Given the description of an element on the screen output the (x, y) to click on. 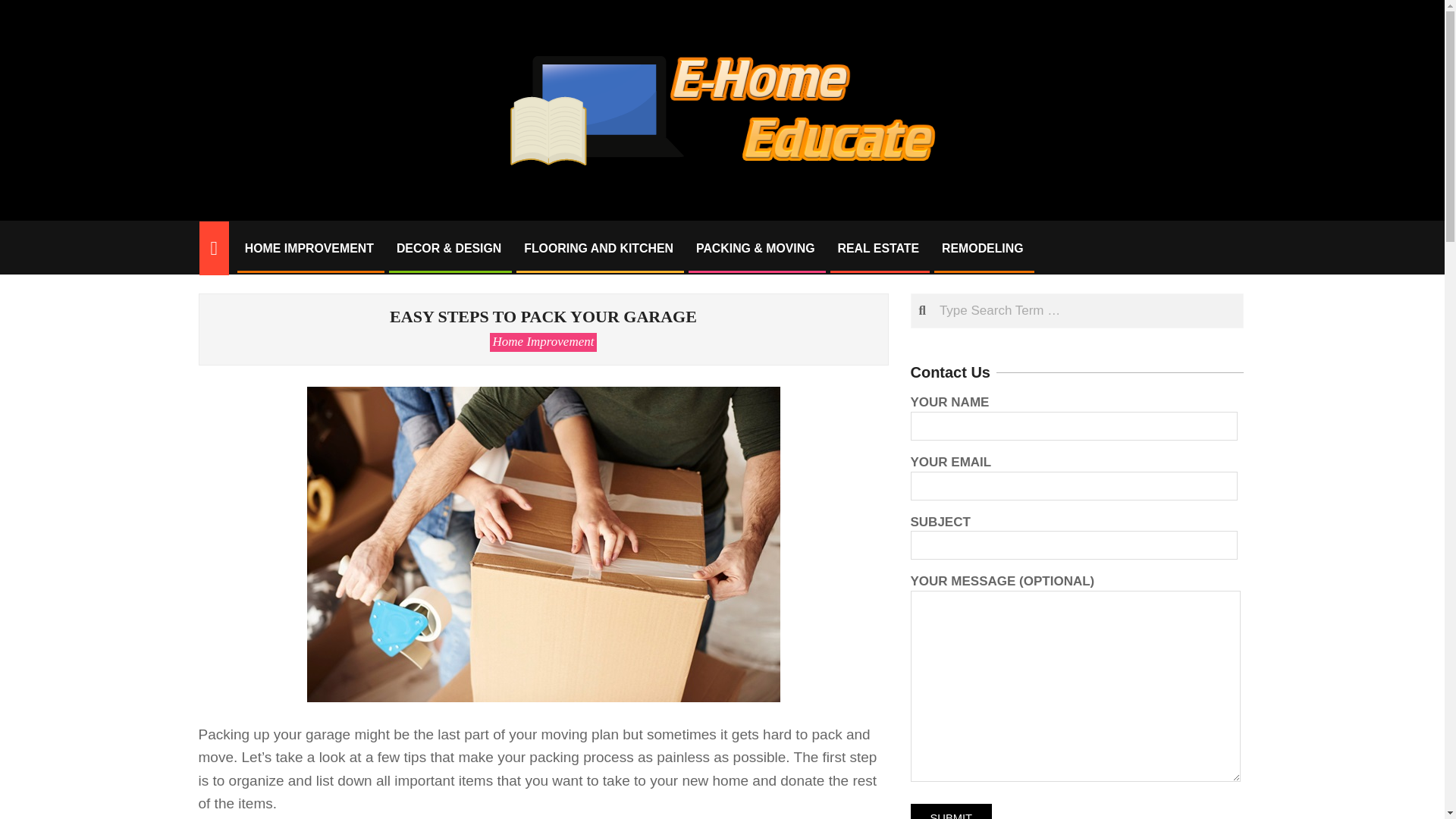
REAL ESTATE (879, 248)
HOME IMPROVEMENT (308, 248)
Search (27, 10)
Home Improvement (542, 341)
REMODELING (982, 248)
FLOORING AND KITCHEN (598, 248)
Submit (950, 811)
Submit (950, 811)
